Given the description of an element on the screen output the (x, y) to click on. 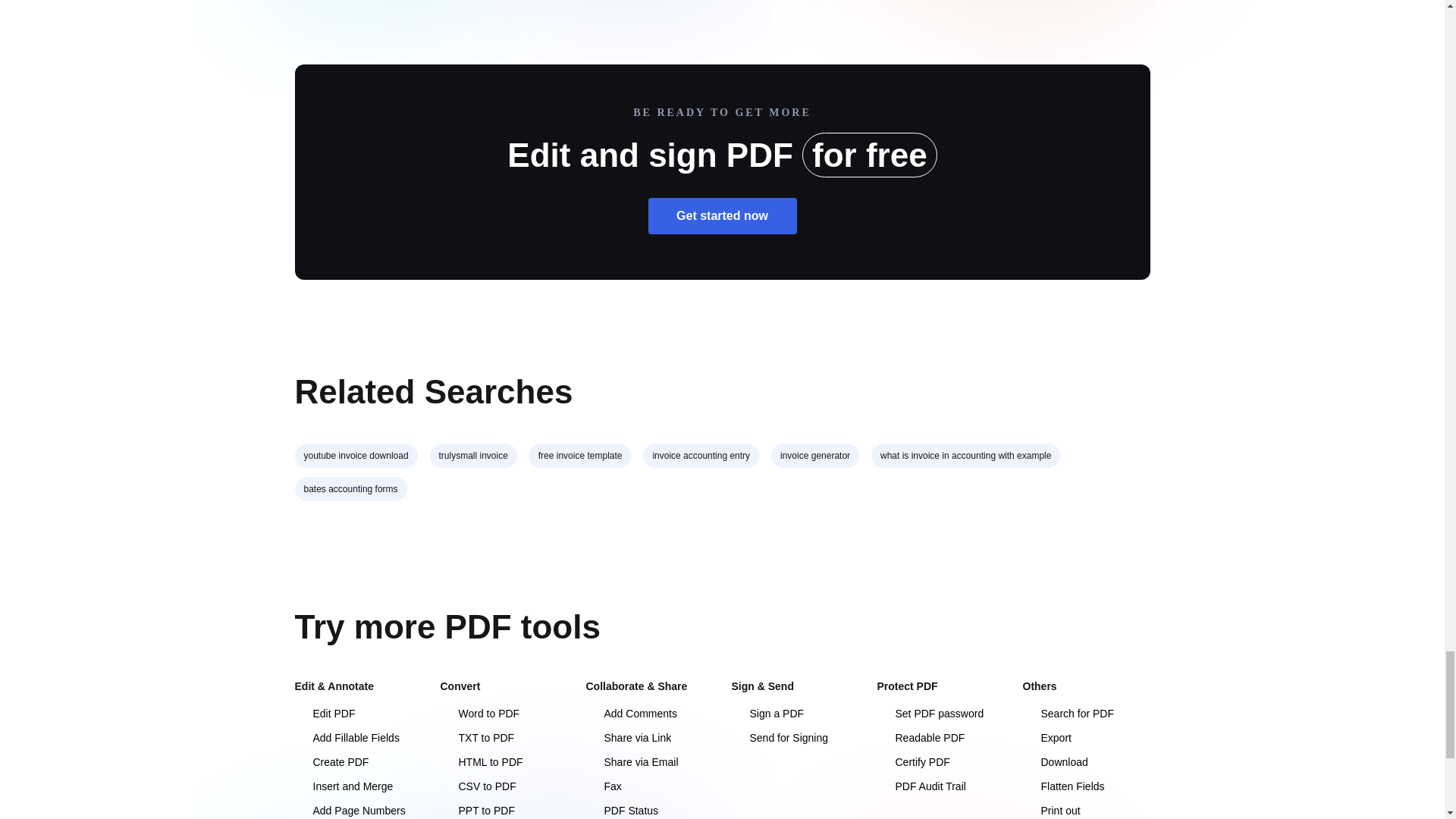
Share via Email (631, 761)
Share via Link (628, 737)
Add Page Numbers (349, 810)
Sign a PDF (766, 713)
Insert and Merge (343, 786)
Fax (603, 786)
Get started now (721, 216)
Add Fillable Fields (346, 737)
TXT to PDF (476, 737)
Edit PDF (324, 713)
